Given the description of an element on the screen output the (x, y) to click on. 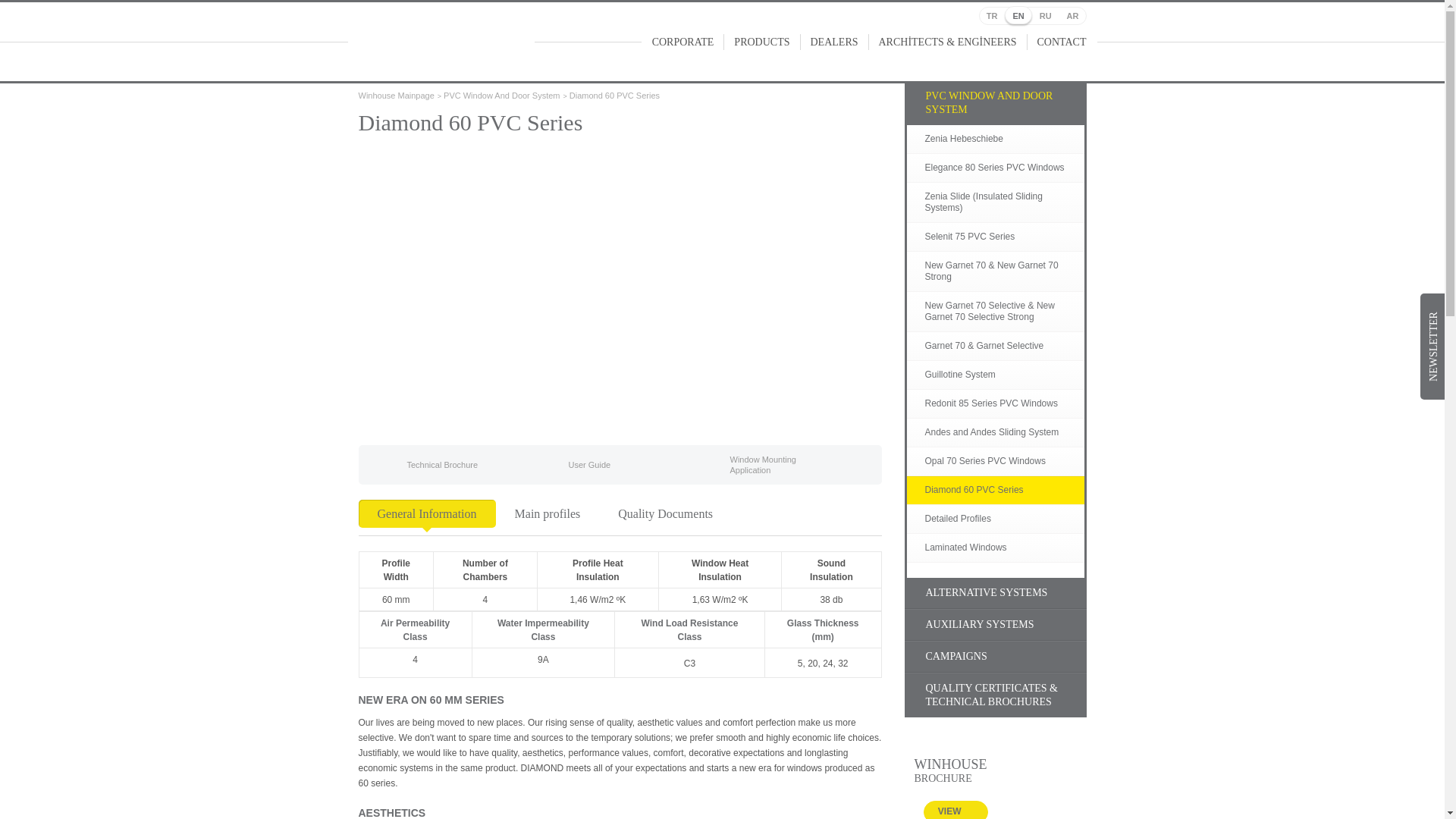
Window Mounting Application (762, 464)
User Guide (573, 464)
EN (1018, 15)
CORPORATE (682, 42)
Winhouse (440, 41)
RU (1045, 15)
AR (1072, 15)
TR (991, 15)
Technical Brochure (424, 464)
